Given the description of an element on the screen output the (x, y) to click on. 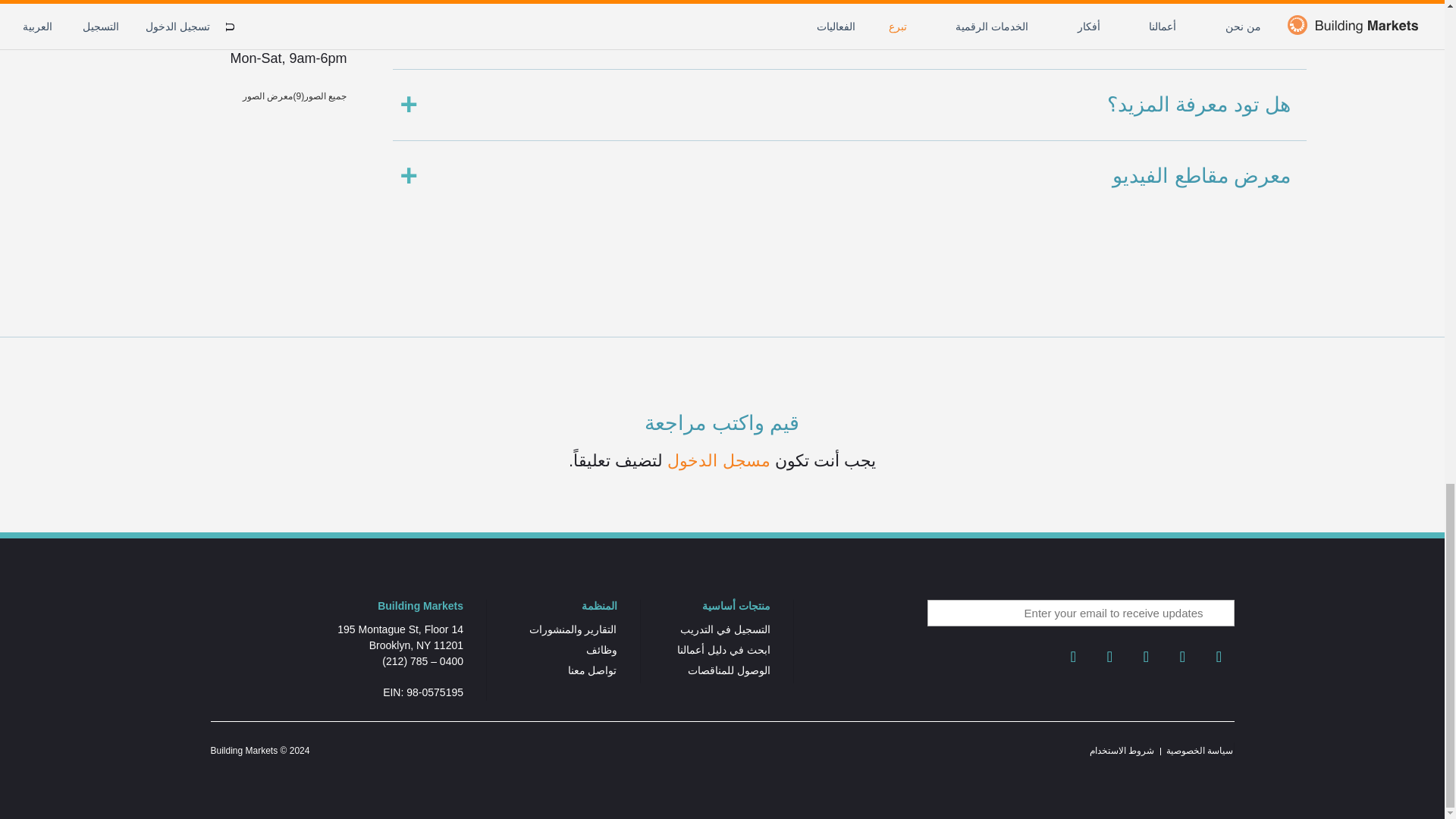
Submit (1216, 616)
